Given the description of an element on the screen output the (x, y) to click on. 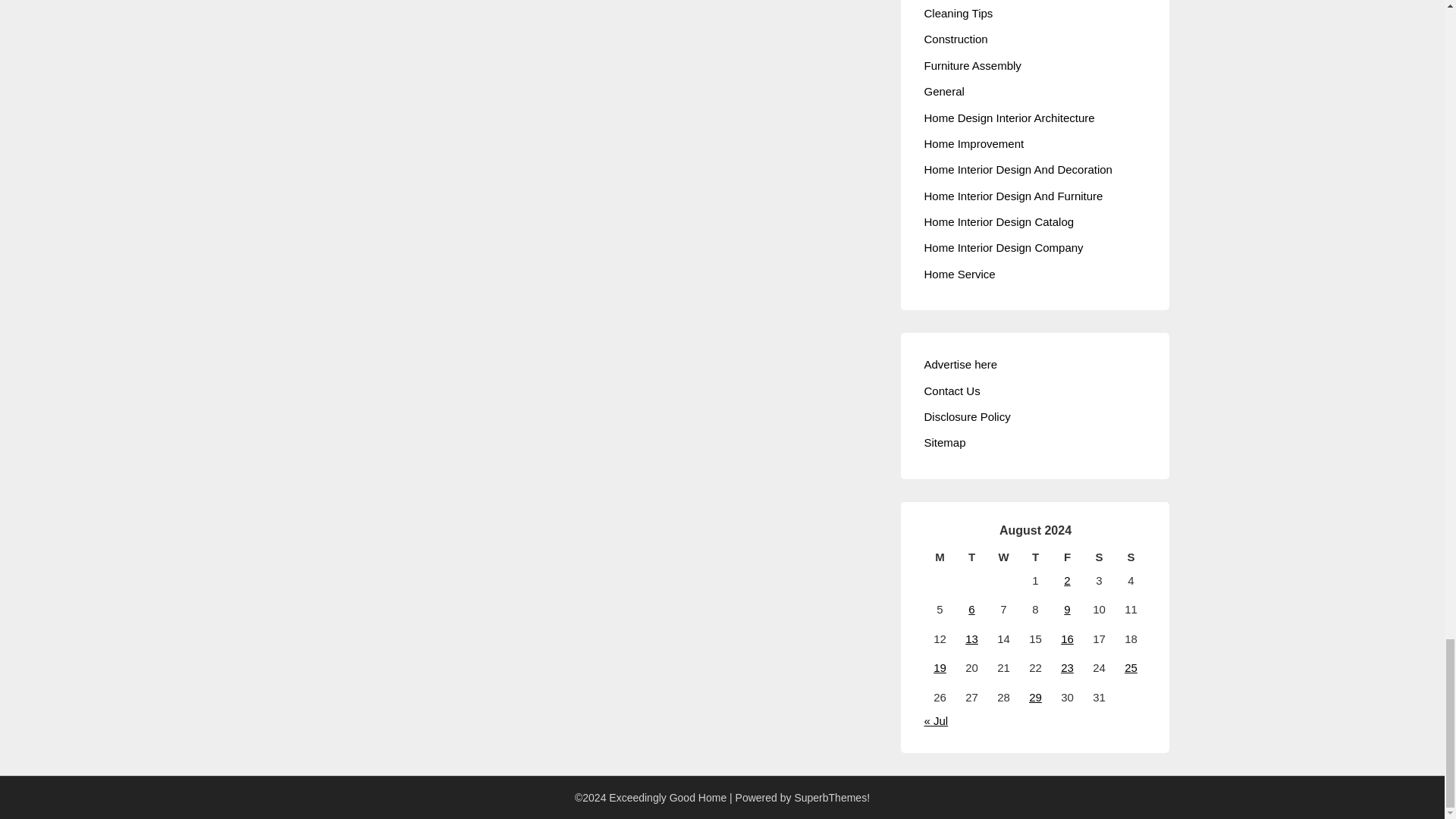
Saturday (1099, 556)
Sunday (1131, 556)
Monday (939, 556)
Thursday (1035, 556)
Friday (1067, 556)
Wednesday (1003, 556)
Tuesday (971, 556)
